Given the description of an element on the screen output the (x, y) to click on. 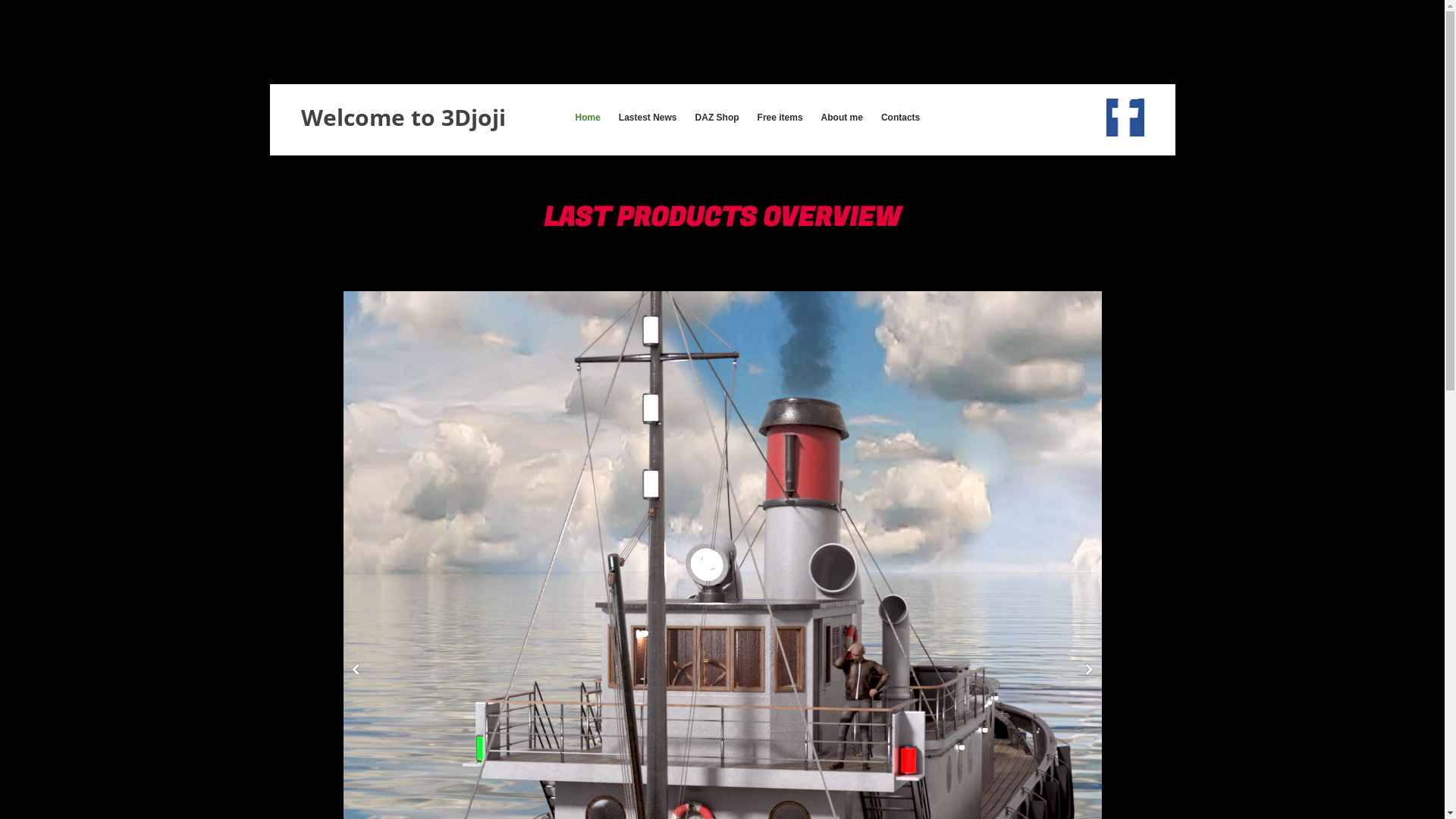
DAZ Shop Element type: text (716, 117)
Lastest News Element type: text (647, 117)
Contacts Element type: text (900, 117)
Home Element type: text (587, 117)
About me Element type: text (841, 117)
Free items Element type: text (780, 117)
